Given the description of an element on the screen output the (x, y) to click on. 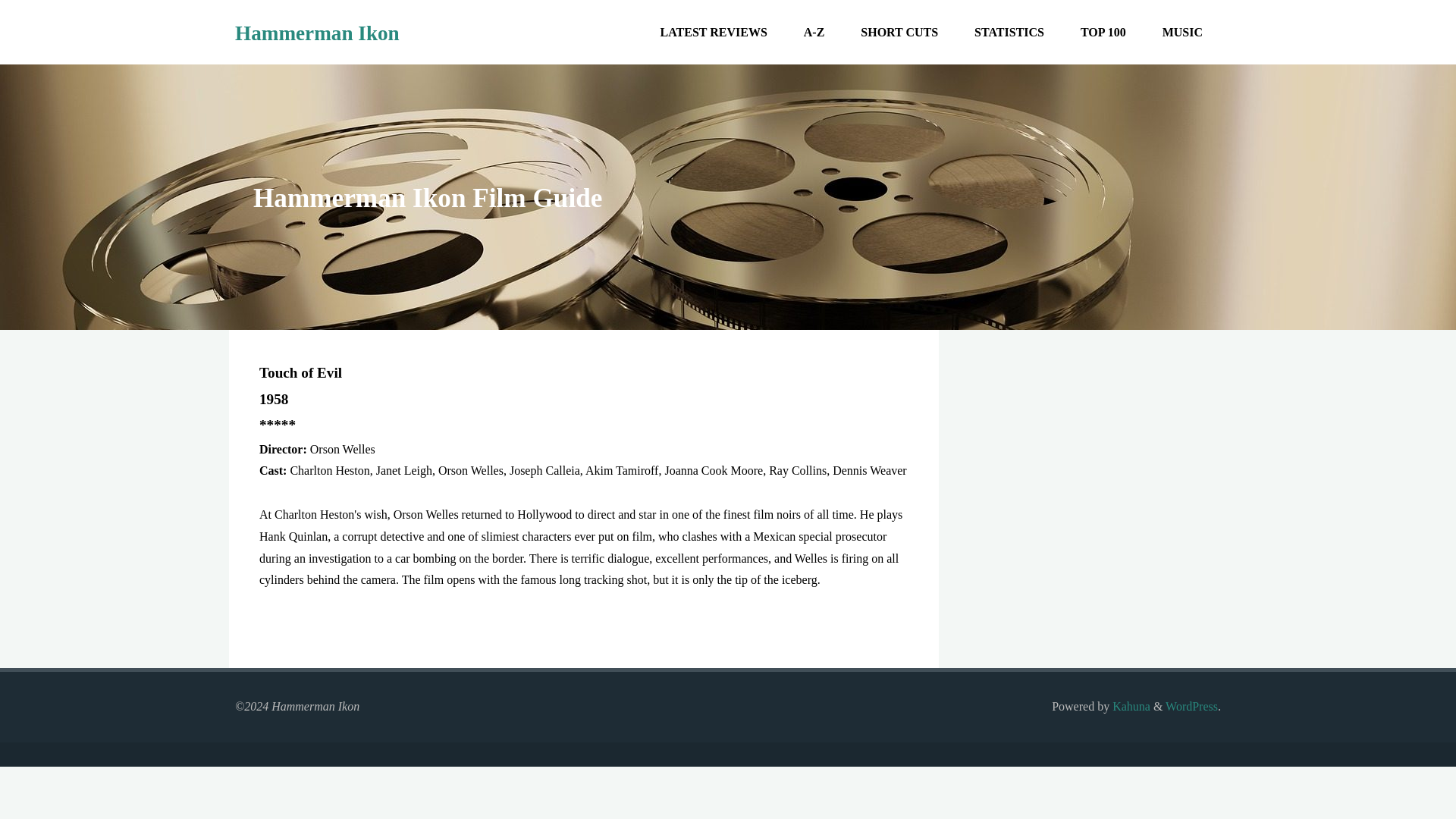
STATISTICS (1009, 32)
LATEST REVIEWS (714, 32)
Semantic Personal Publishing Platform (1191, 706)
SHORT CUTS (899, 32)
A-Z (814, 32)
Hammerman Ikon (316, 33)
TOP 100 (1103, 32)
Kahuna WordPress Theme by Cryout Creations (1129, 706)
